Given the description of an element on the screen output the (x, y) to click on. 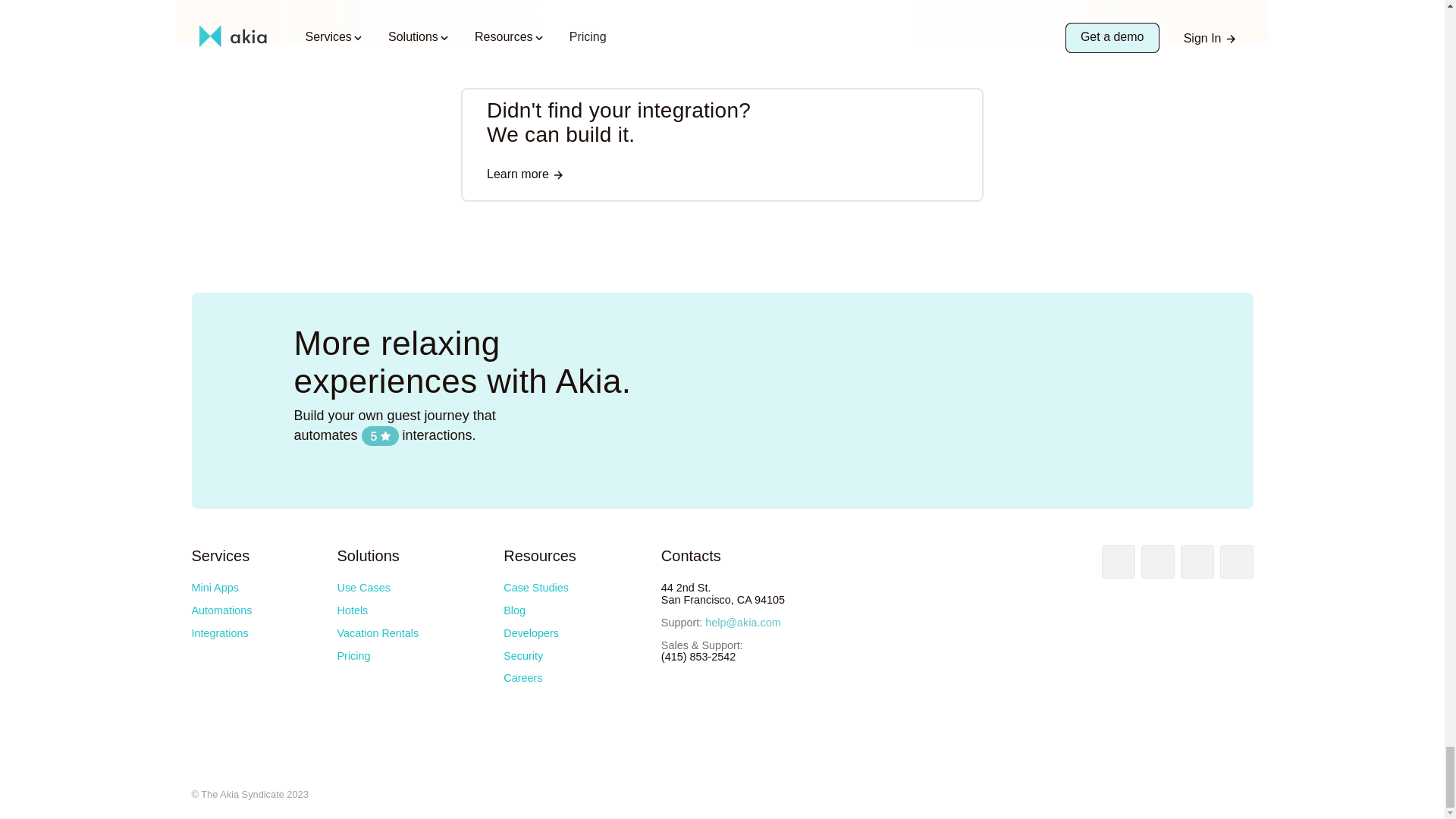
Mini Apps (214, 587)
Automations (220, 610)
Use Cases (363, 587)
Integrations (218, 633)
Learn more (524, 175)
